Given the description of an element on the screen output the (x, y) to click on. 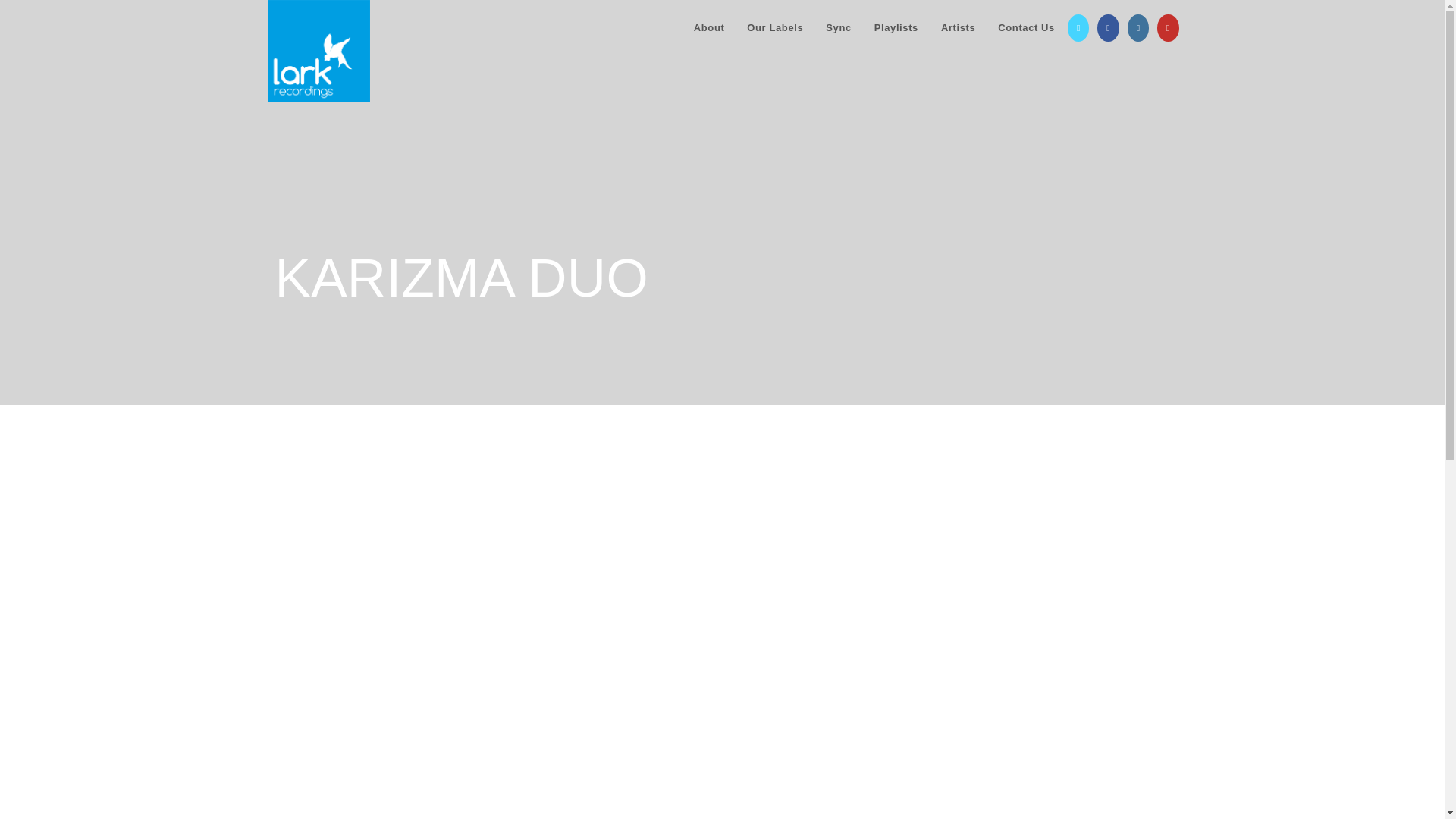
About (709, 28)
Artists (958, 28)
Playlists (896, 28)
Contact Us (1026, 28)
Our Labels (774, 28)
